Given the description of an element on the screen output the (x, y) to click on. 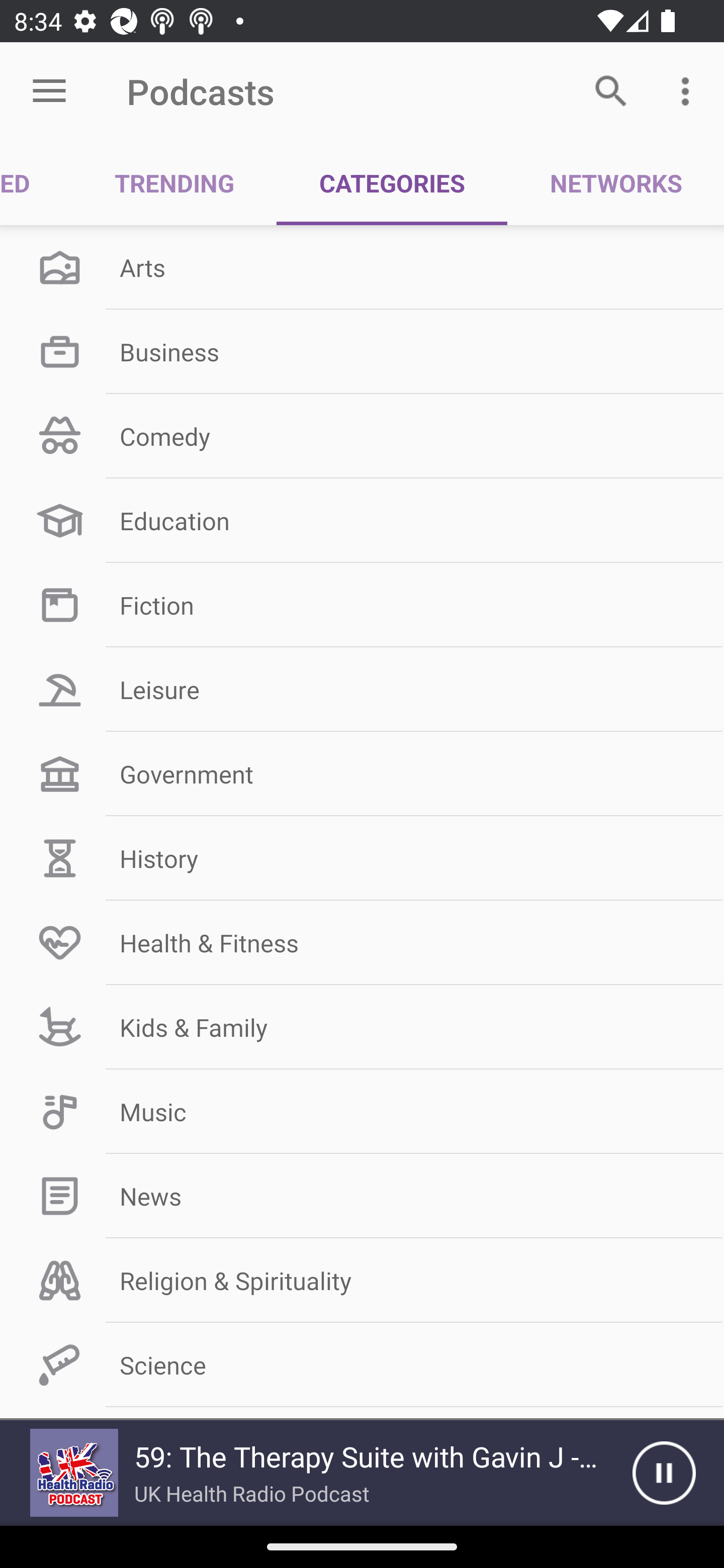
Open menu (49, 91)
Search (611, 90)
More options (688, 90)
TRENDING (174, 183)
CATEGORIES (391, 183)
NETWORKS (615, 183)
Arts (362, 266)
Business (362, 350)
Comedy (362, 435)
Education (362, 520)
Fiction (362, 604)
Leisure (362, 689)
Government (362, 774)
History (362, 858)
Health & Fitness (362, 942)
Kids & Family (362, 1026)
Music (362, 1111)
News (362, 1196)
Religion & Spirituality (362, 1280)
Science (362, 1364)
Pause (663, 1472)
